Given the description of an element on the screen output the (x, y) to click on. 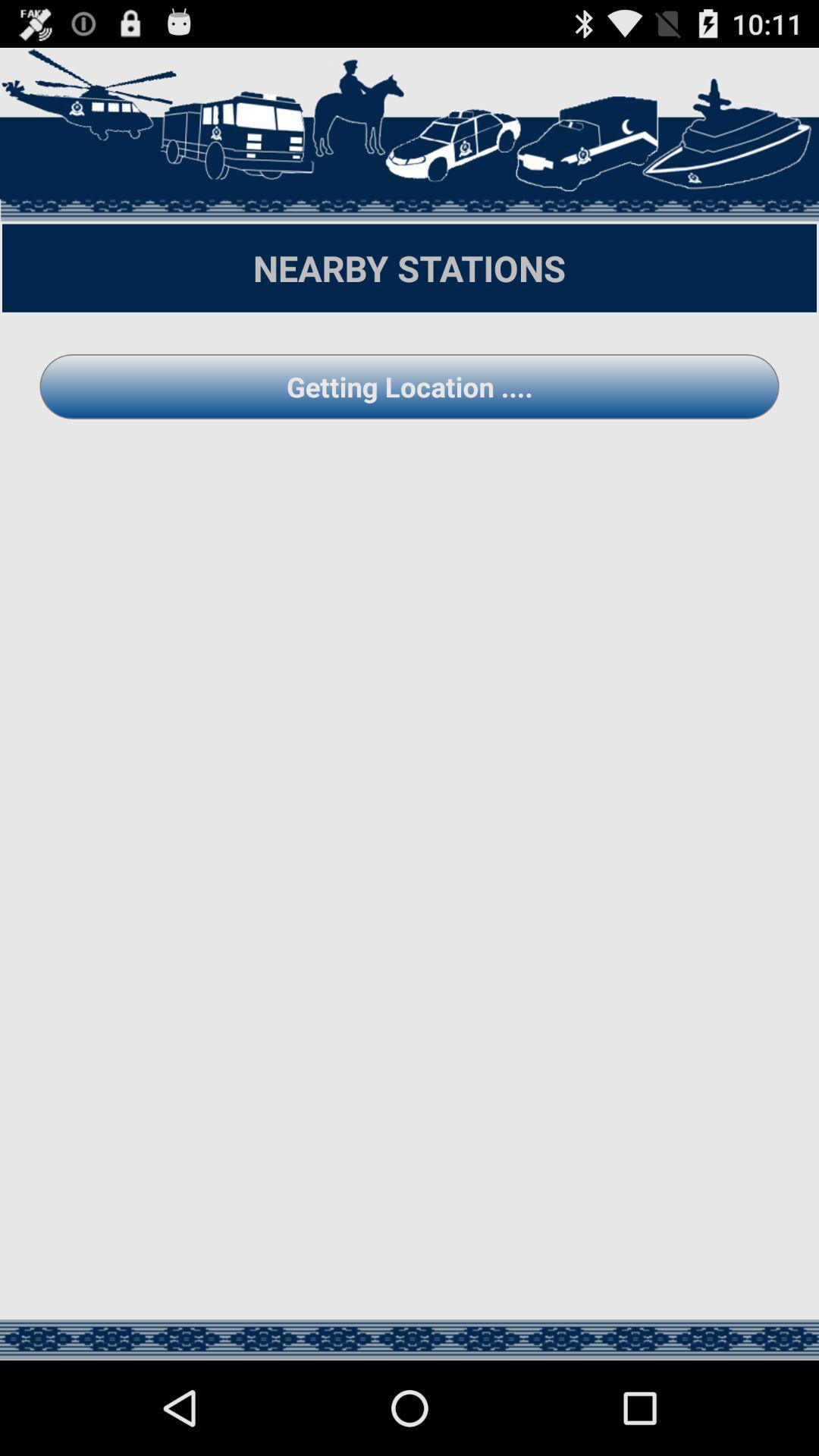
scroll to getting location .... button (409, 386)
